Given the description of an element on the screen output the (x, y) to click on. 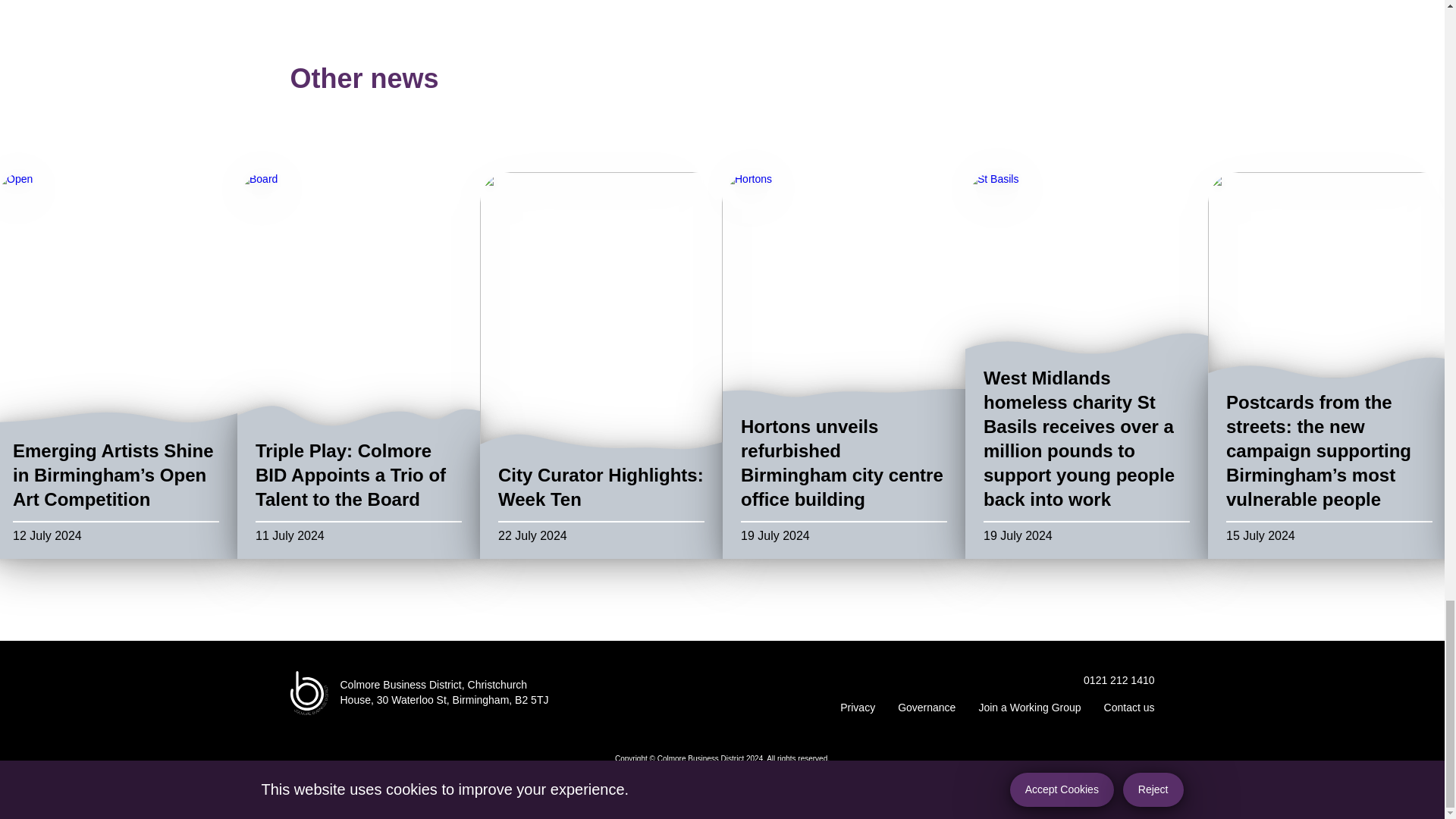
City Curator Highlights: Week Ten (600, 490)
